Given the description of an element on the screen output the (x, y) to click on. 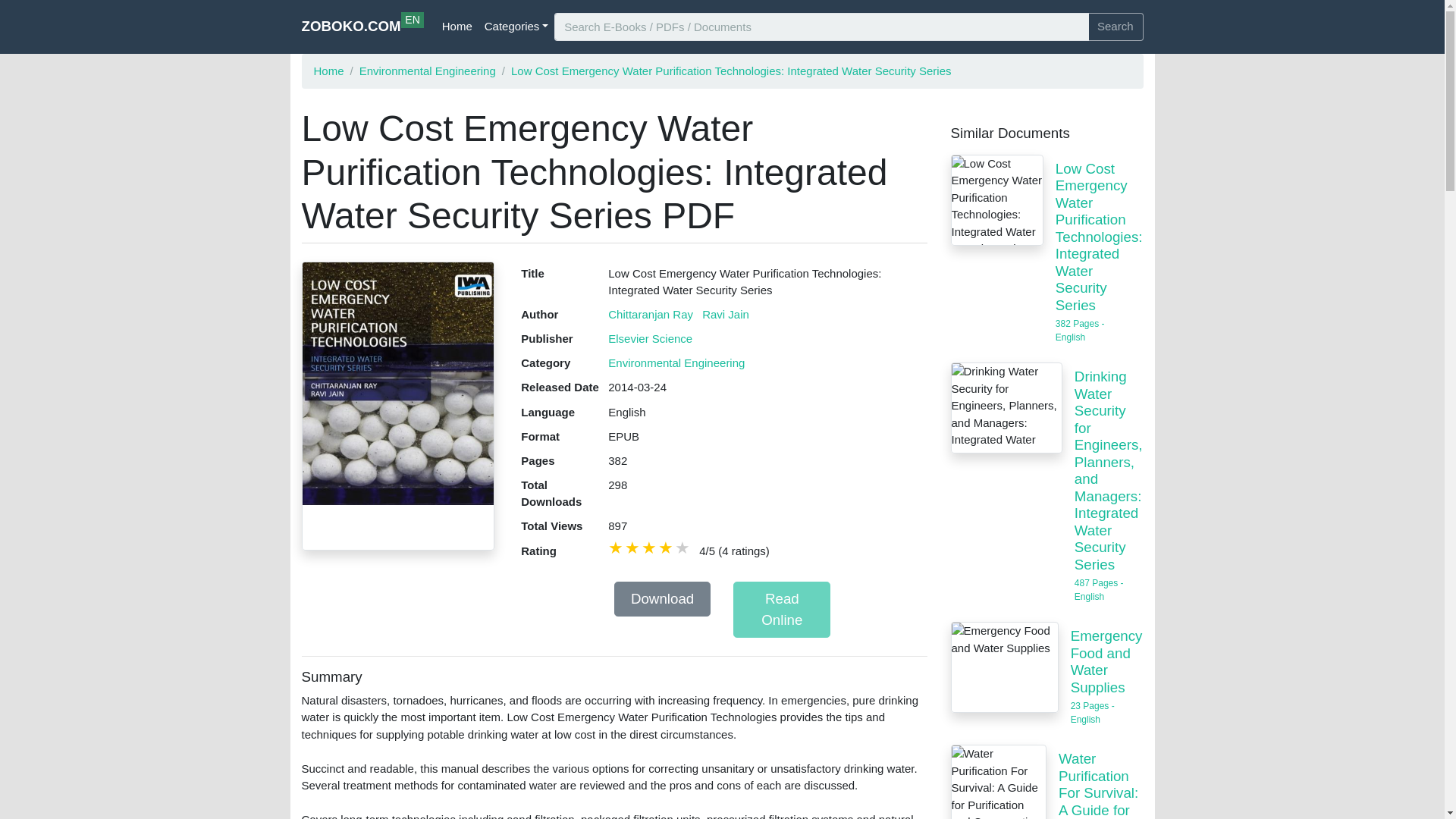
Download (662, 598)
Elsevier Science (650, 338)
Environmental Engineering (427, 69)
Categories (516, 26)
Emergency Food and Water Supplies (1004, 666)
Chittaranjan Ray (650, 314)
Read Online (781, 609)
Search (1114, 26)
Ravi Jain (725, 314)
Home (457, 26)
Environmental Engineering (362, 26)
